Given the description of an element on the screen output the (x, y) to click on. 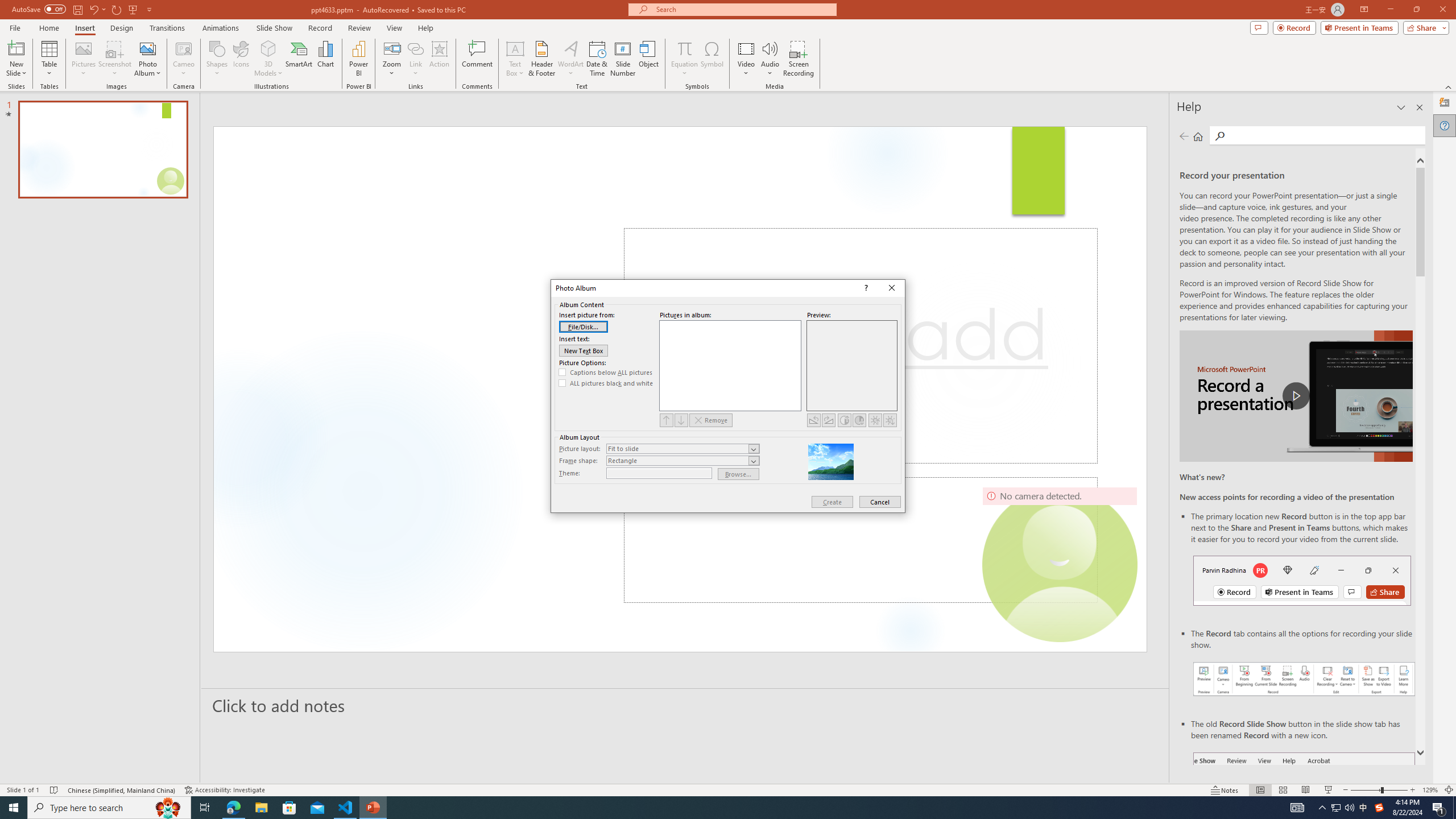
Captions below ALL pictures (606, 371)
